Given the description of an element on the screen output the (x, y) to click on. 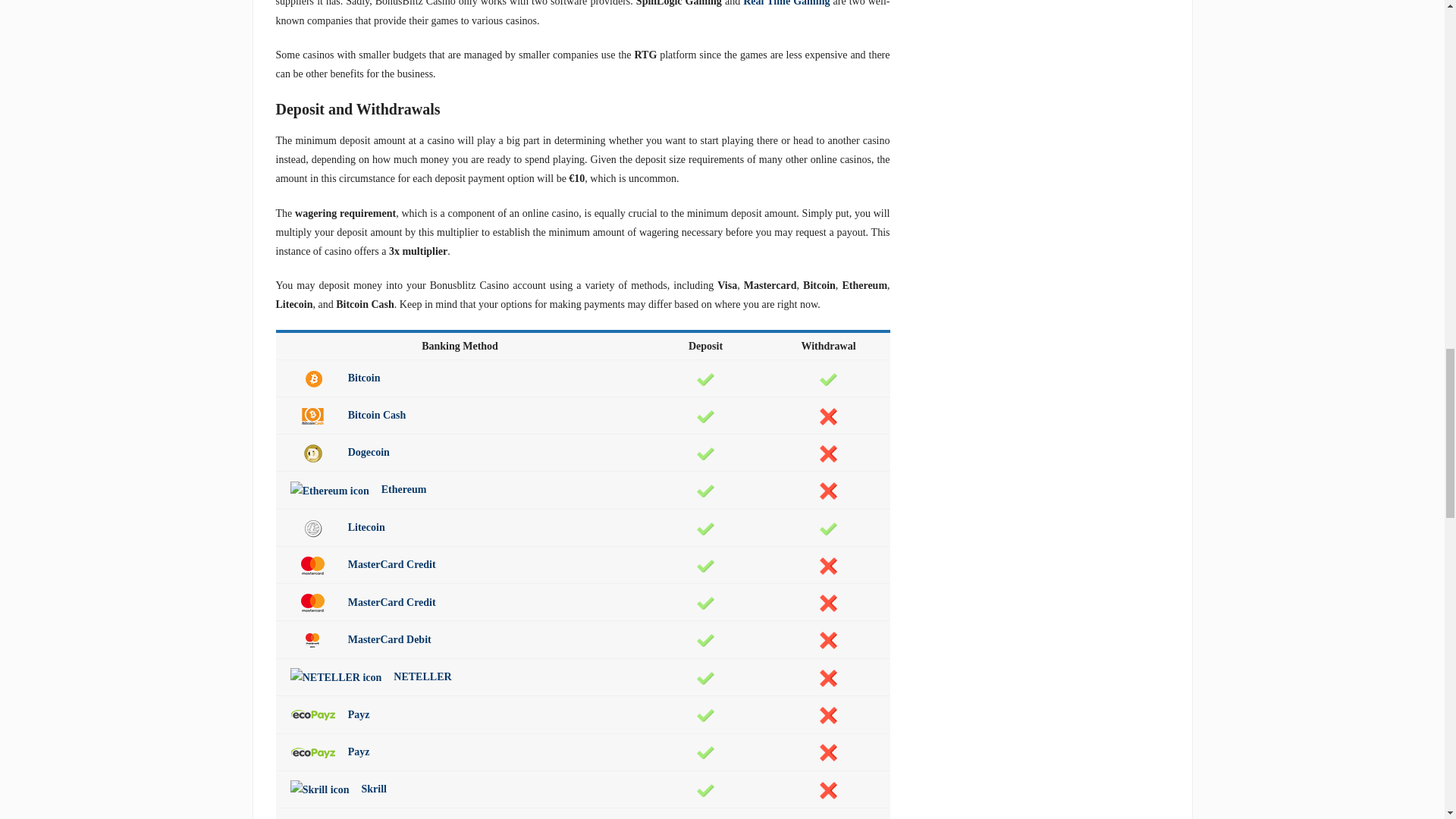
MasterCard Credit (312, 602)
Bitcoin (312, 379)
MasterCard Credit (362, 602)
Bitcoin Cash (347, 414)
MasterCard Credit (312, 565)
Bitcoin Cash (312, 416)
Ethereum (357, 489)
Ethereum (329, 490)
Litecoin (337, 527)
Dogecoin (312, 453)
